Given the description of an element on the screen output the (x, y) to click on. 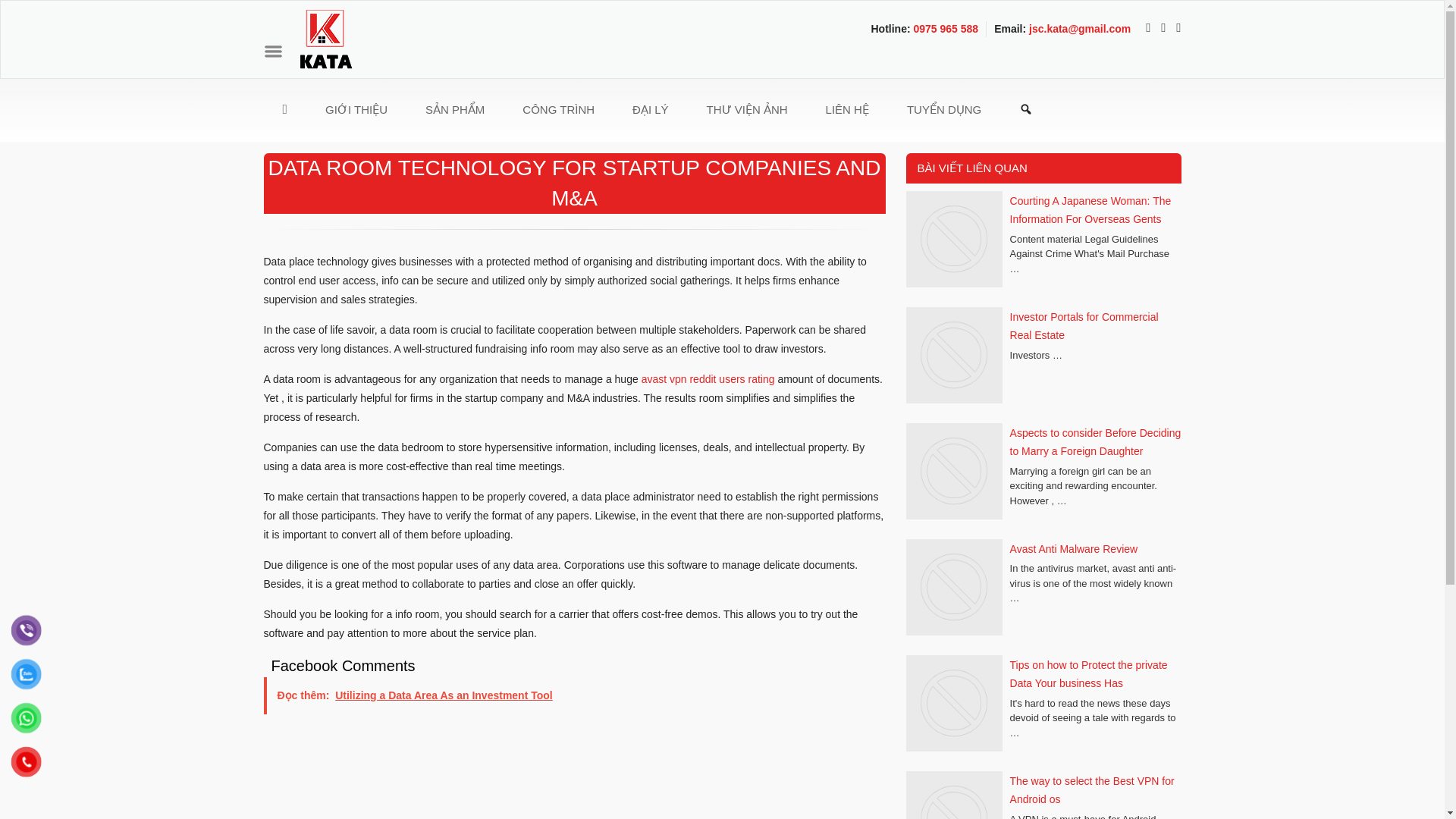
Tips on how to Protect the private Data Your business Has (1088, 674)
Twitter (1159, 28)
The way to select the Best VPN for Android os (1092, 789)
0975 965 588 (945, 28)
The way to select the Best VPN for Android os (953, 795)
Avast Anti Malware Review (1074, 548)
Tips on how to Protect the private Data Your business Has (953, 705)
